Given the description of an element on the screen output the (x, y) to click on. 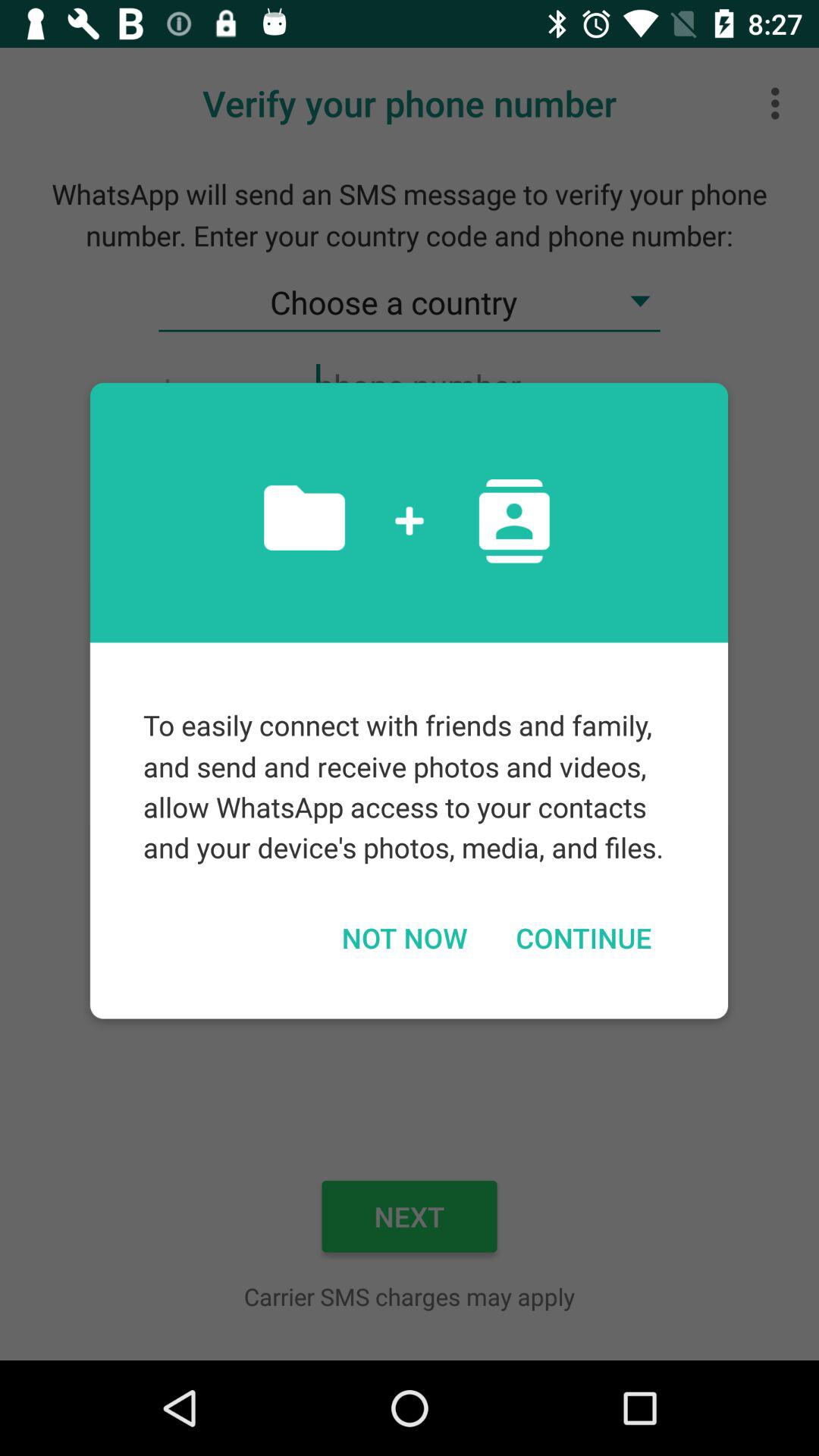
jump to not now icon (403, 937)
